Given the description of an element on the screen output the (x, y) to click on. 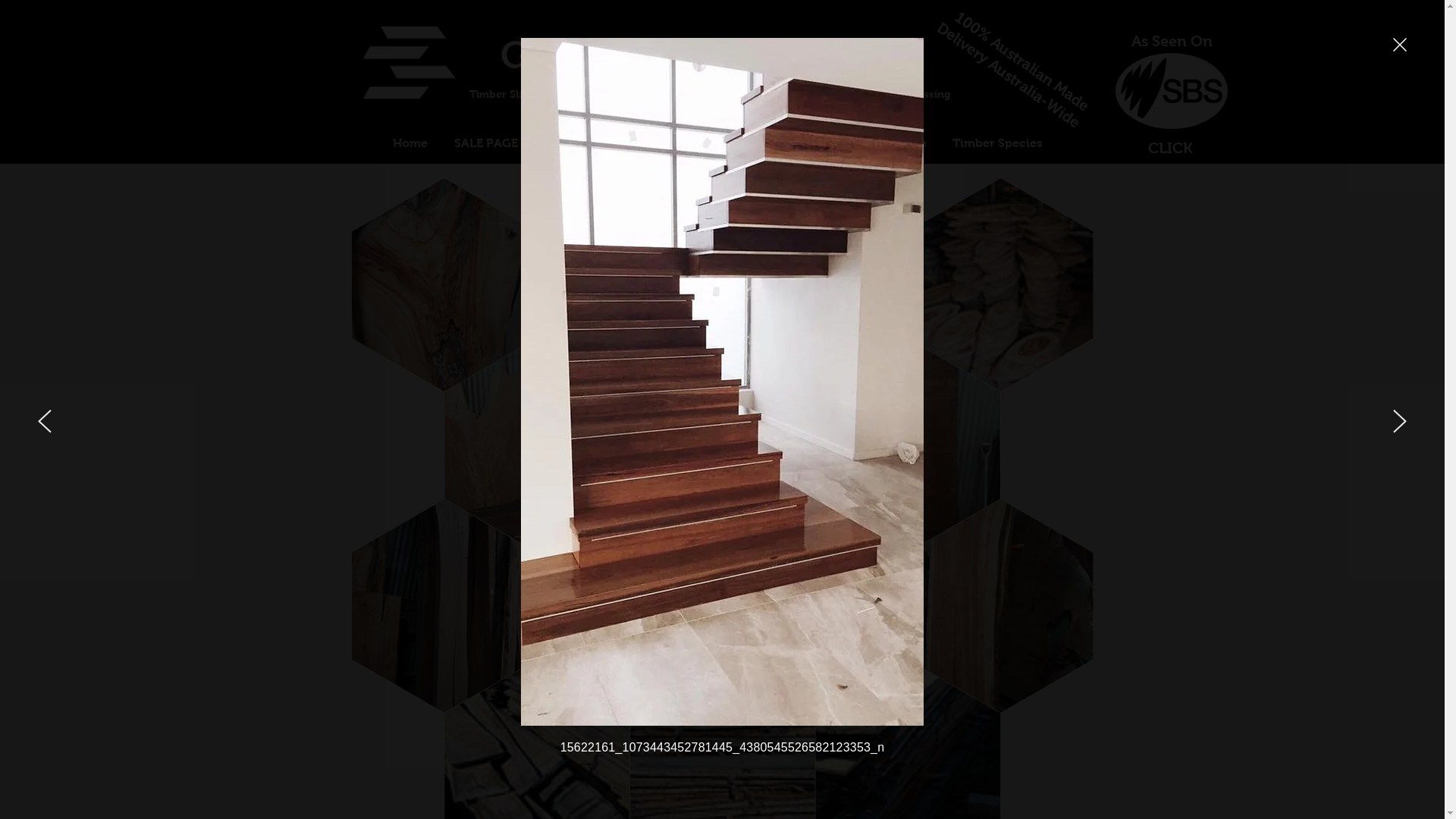
Gallery Element type: text (790, 142)
About Element type: text (651, 142)
Home Element type: text (409, 142)
eBay Store Element type: text (574, 142)
Services Element type: text (719, 142)
SALE PAGE Element type: text (486, 142)
Contact/Quote Element type: text (882, 142)
Timber Species Element type: text (996, 142)
